Given the description of an element on the screen output the (x, y) to click on. 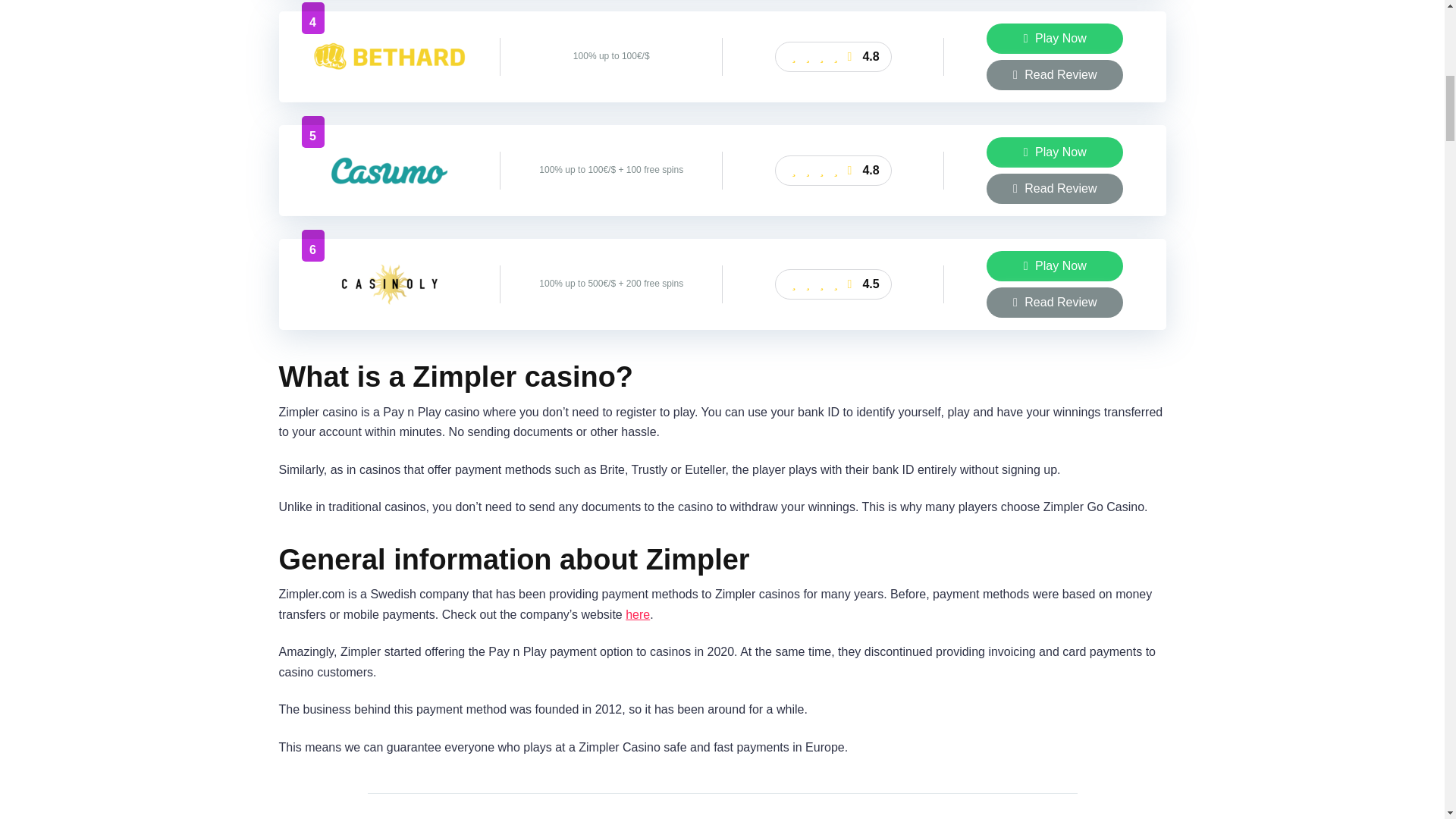
Casumo (389, 196)
here (637, 614)
Read Review (1054, 74)
Play Now (1054, 152)
Read Review (1054, 74)
Play Now (1054, 38)
Play Now (1054, 265)
Read Review (1054, 188)
Read Review (1054, 302)
Play Now (1054, 38)
Bethard (389, 82)
